Given the description of an element on the screen output the (x, y) to click on. 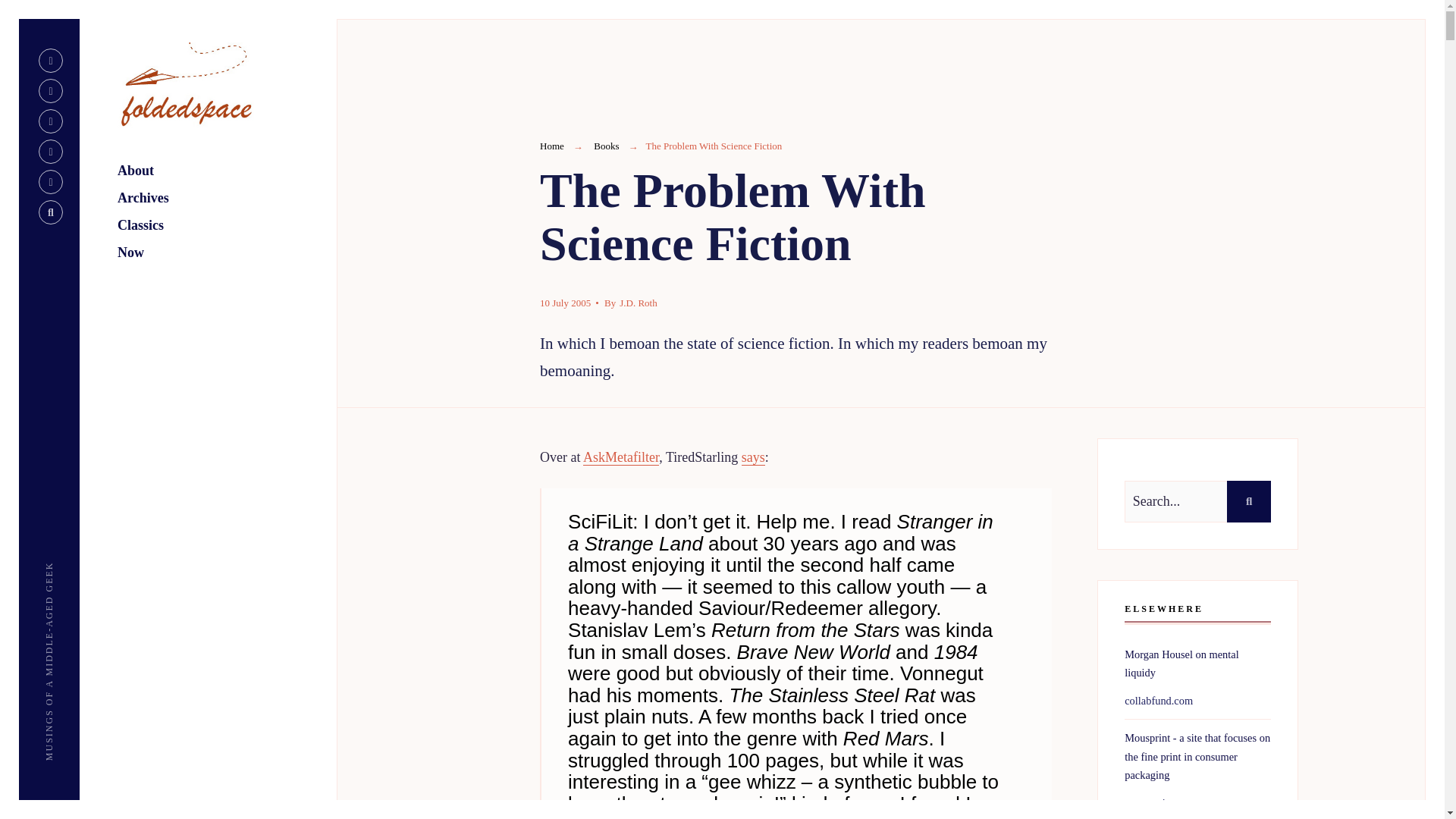
Search... (1197, 501)
Now (226, 253)
Morgan Housel on mental liquidy (1181, 663)
J.D. Roth (638, 302)
Posts by J.D. Roth (638, 302)
Home (552, 145)
says (753, 457)
Books (606, 145)
Rss Feed (50, 60)
